Given the description of an element on the screen output the (x, y) to click on. 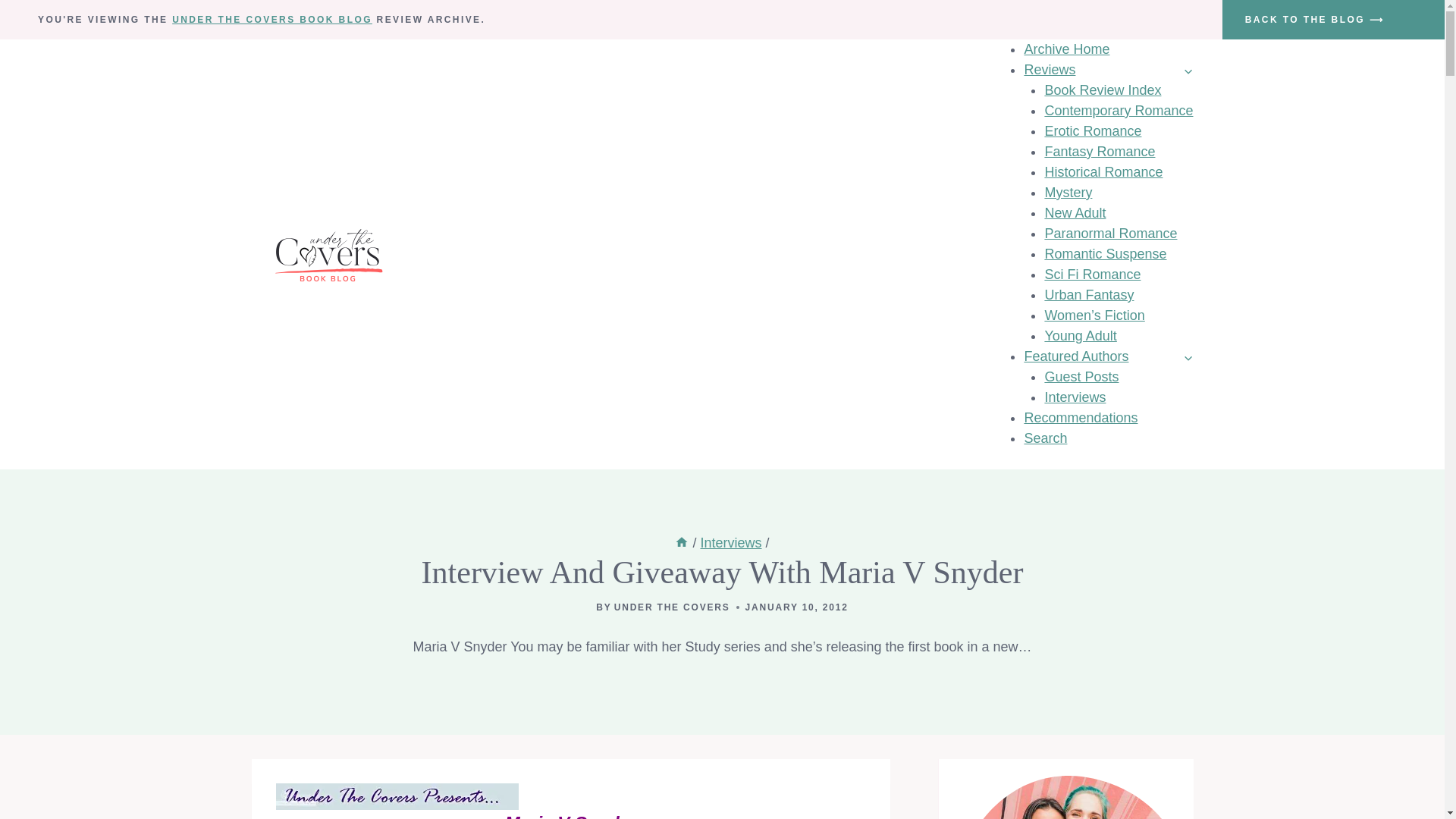
Featured Authors (1107, 356)
Contemporary Romance (1117, 110)
Erotic Romance (1092, 130)
Archive Home (1066, 48)
Reviews (1107, 69)
Home (681, 542)
UNDER THE COVERS BOOK BLOG (271, 19)
Young Adult (1079, 335)
Urban Fantasy (1088, 294)
Historical Romance (1102, 171)
